Given the description of an element on the screen output the (x, y) to click on. 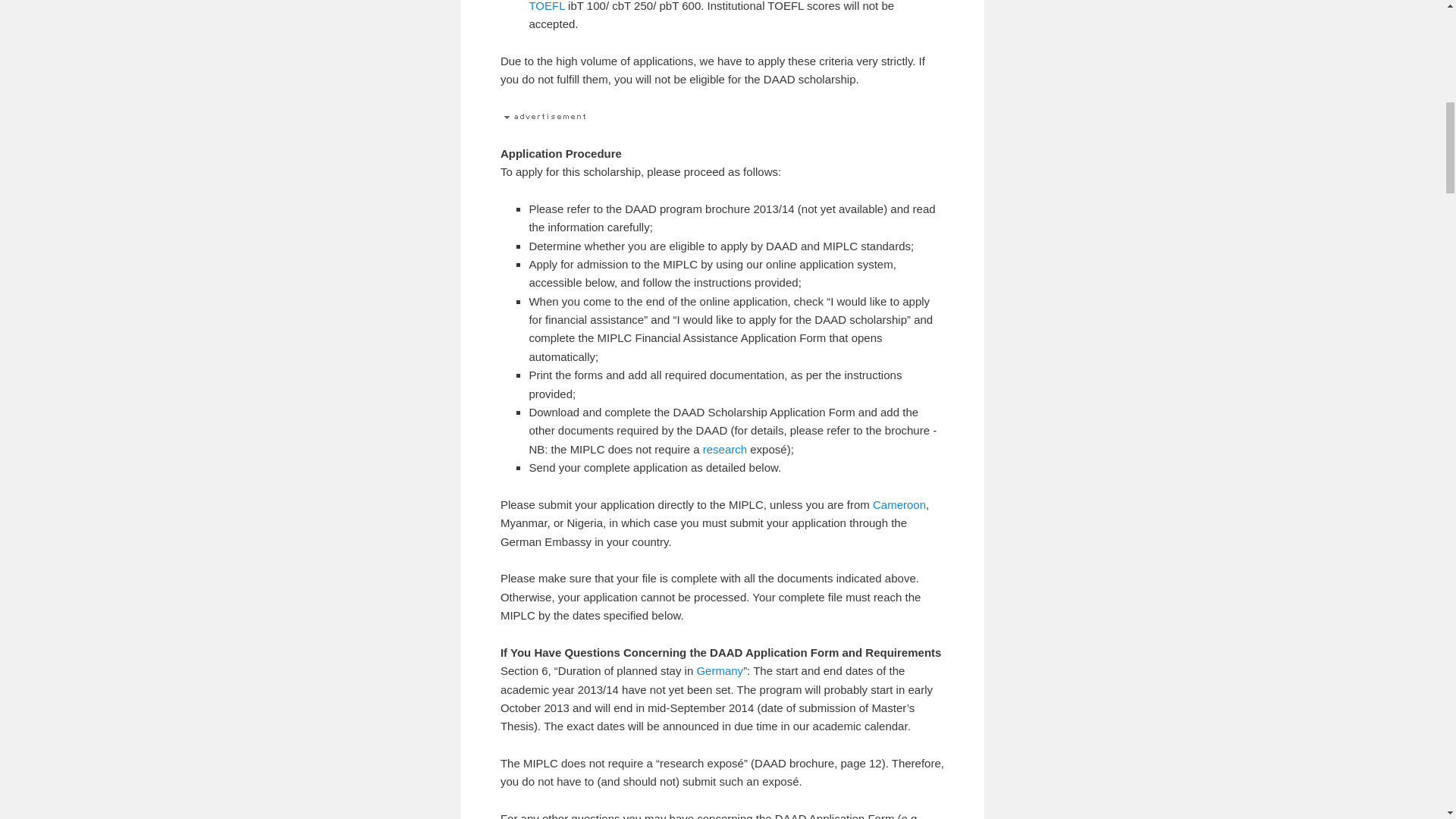
Cameroon (899, 504)
research (724, 449)
TOEFL (546, 6)
TOEFL (546, 6)
research (724, 449)
Cameroon (899, 504)
Germany (718, 670)
